Given the description of an element on the screen output the (x, y) to click on. 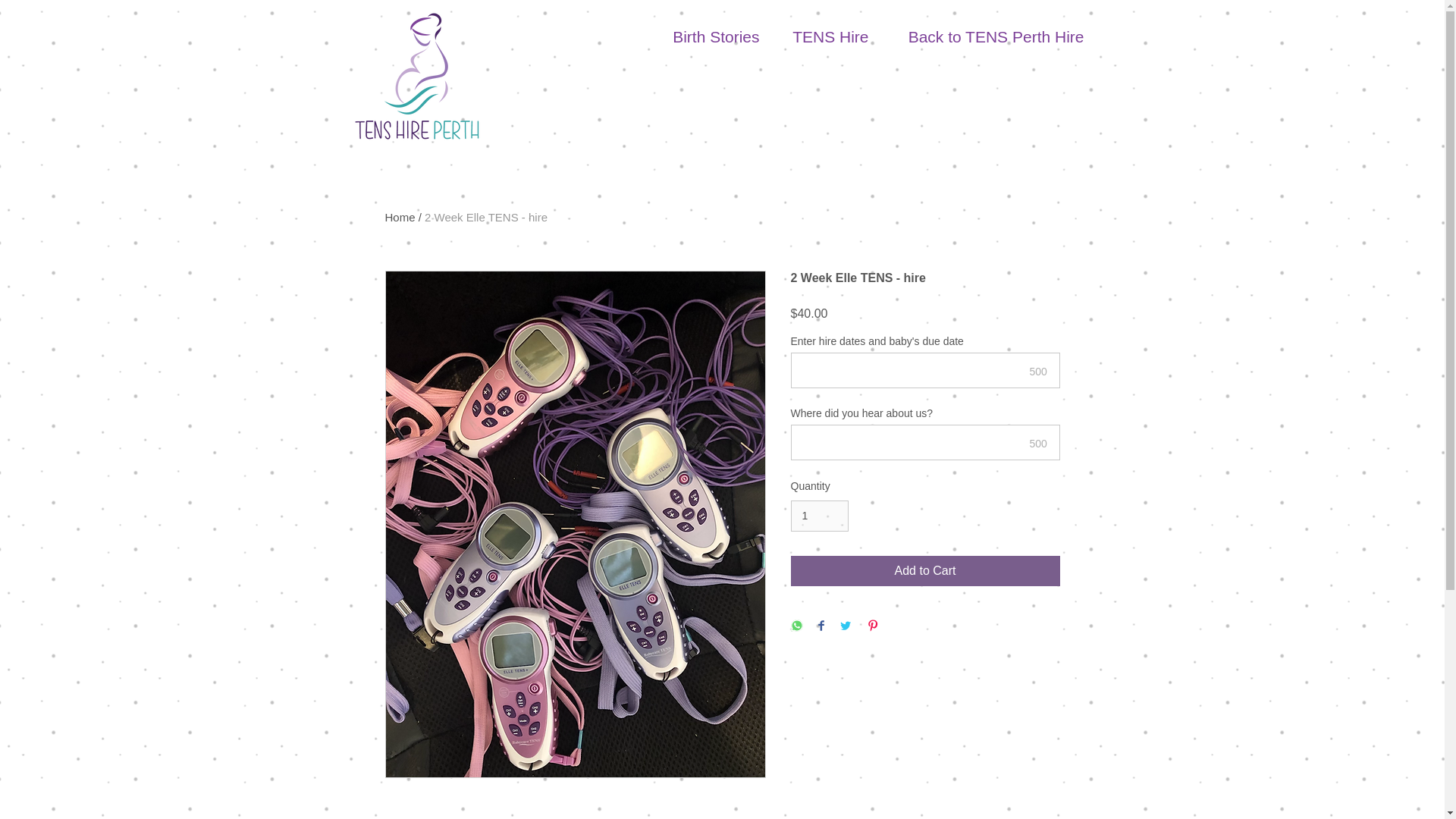
TENS Hire (821, 36)
Add to Cart (924, 571)
Back to TENS Perth Hire (984, 36)
1 (818, 515)
Smile.io Rewards Program Launcher (69, 780)
2 Week Elle TENS - hire (486, 216)
Birth Stories (703, 36)
Home (399, 216)
